Given the description of an element on the screen output the (x, y) to click on. 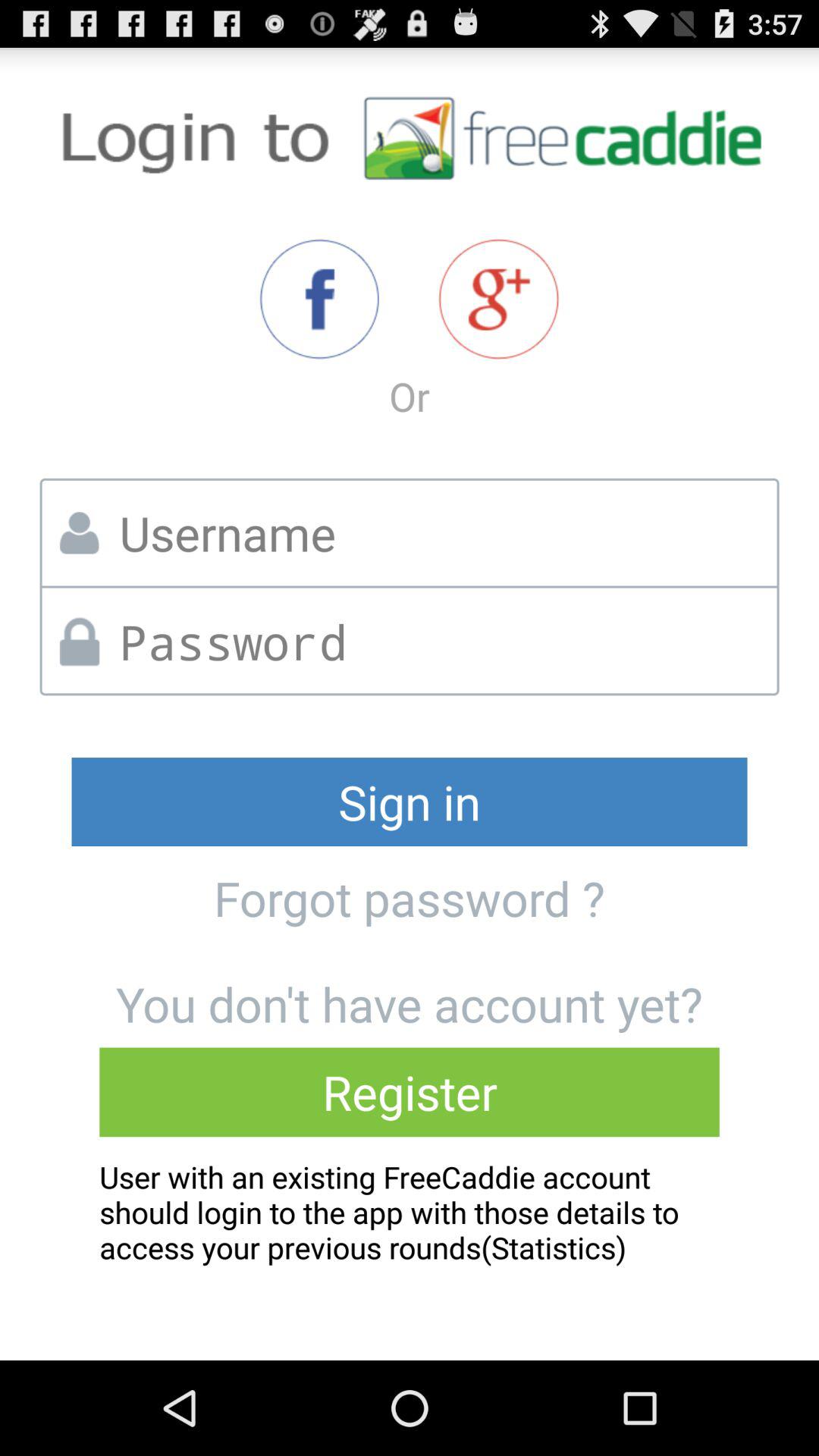
enter password (443, 641)
